Given the description of an element on the screen output the (x, y) to click on. 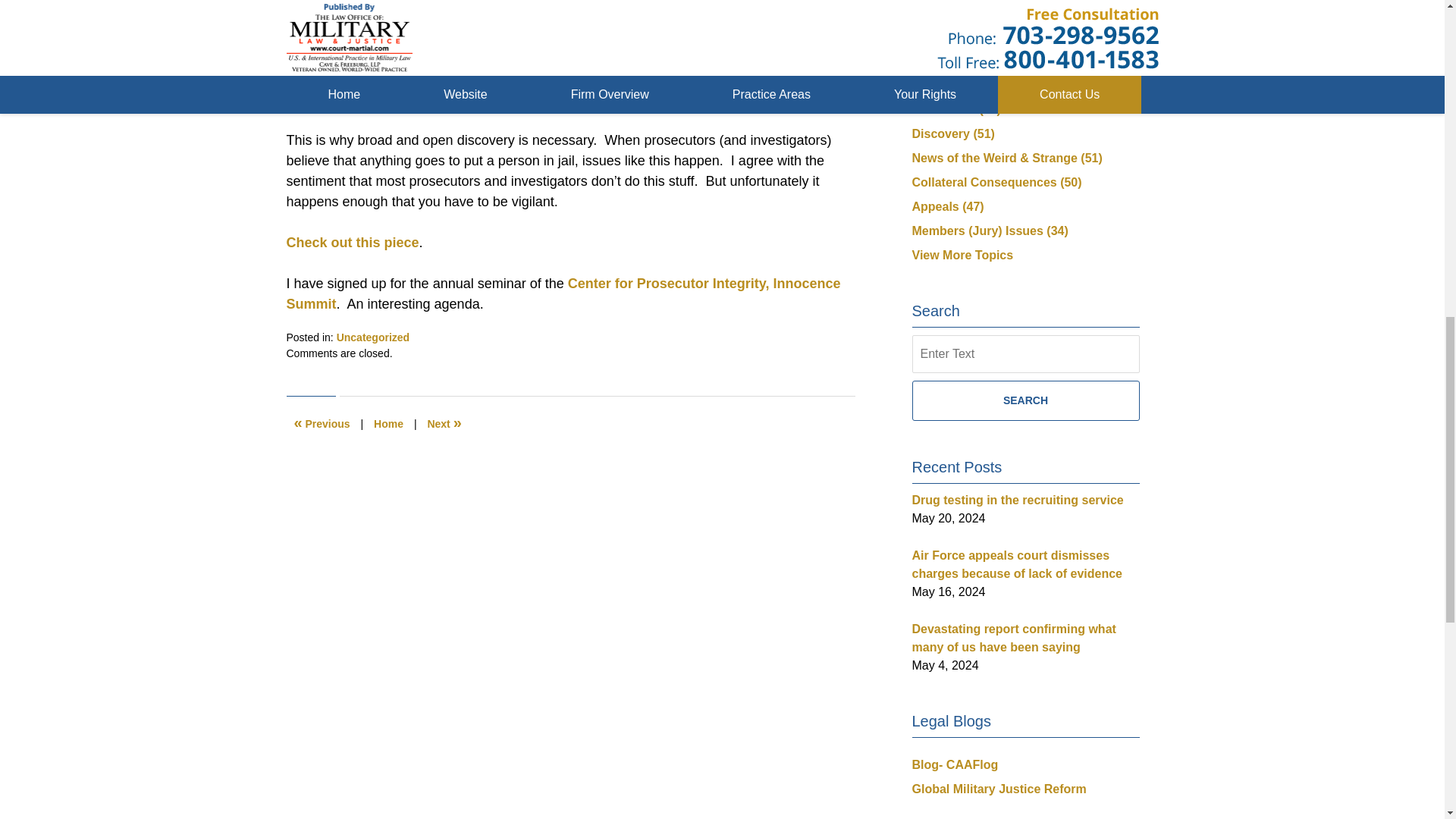
Uncategorized (372, 337)
Center for Prosecutor Integrity, Innocence Summit (563, 294)
Recovered memory-or-making it up? (443, 423)
View all posts in Uncategorized (372, 337)
Check out this piece (352, 242)
Worth the read (322, 423)
Home (388, 423)
